Given the description of an element on the screen output the (x, y) to click on. 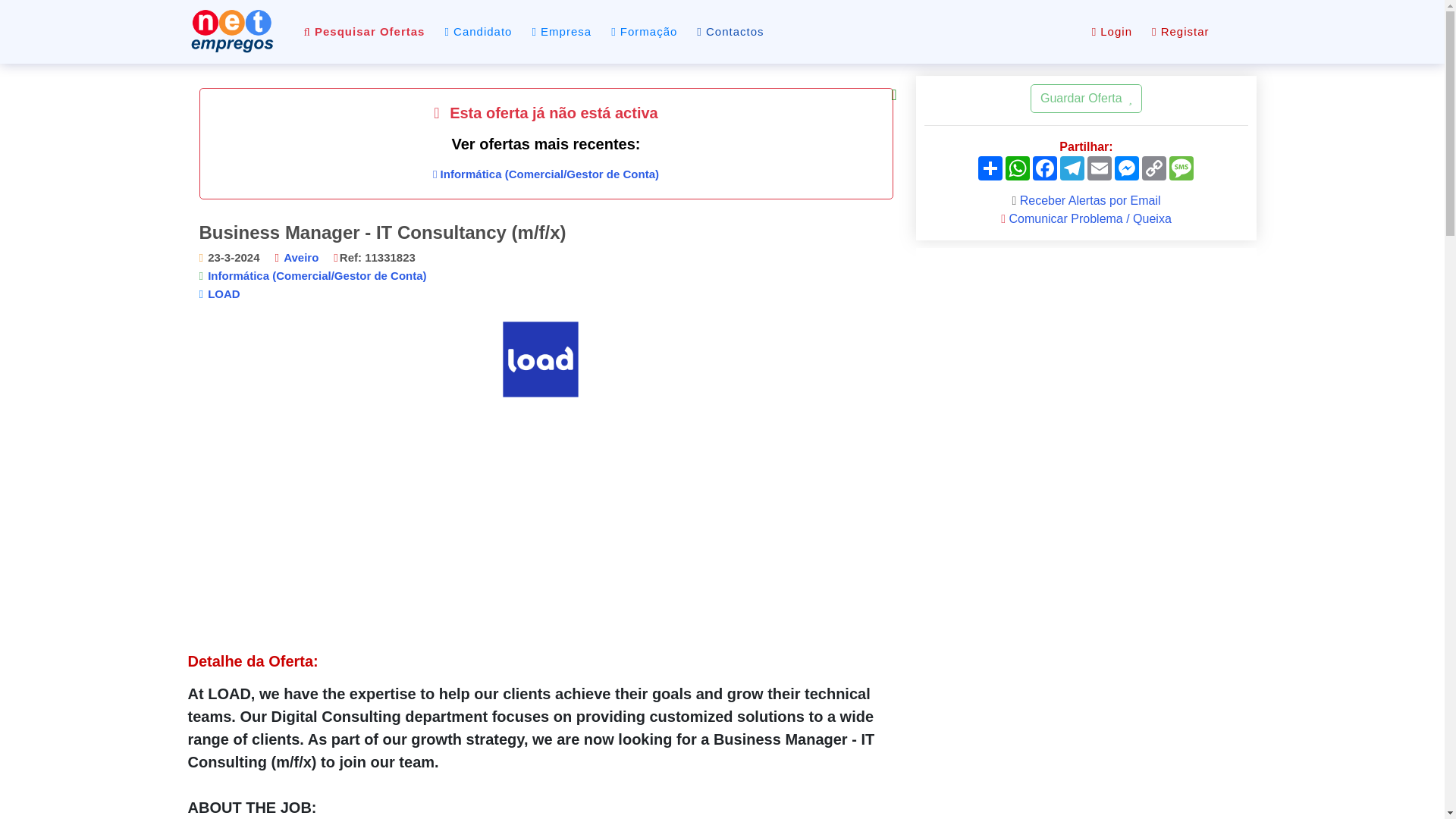
Registar (1180, 31)
Pesquisar Ofertas (364, 31)
Aveiro (300, 256)
LOAD (224, 293)
Contactos (730, 31)
Candidato (477, 31)
Ofertas de emprego  Aveiro (300, 256)
Empresa (561, 31)
Login (1111, 31)
